Given the description of an element on the screen output the (x, y) to click on. 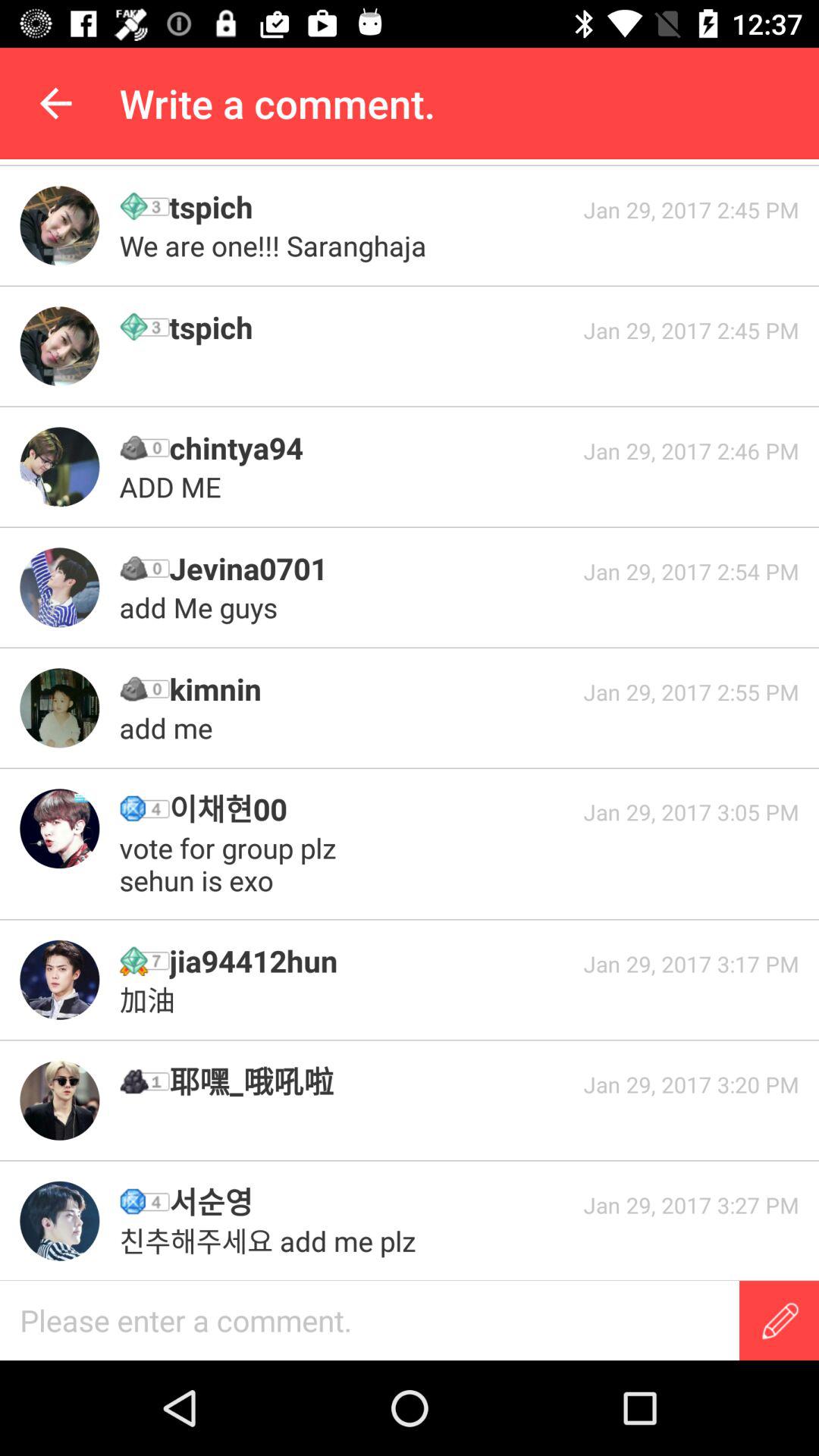
select profile (59, 979)
